Given the description of an element on the screen output the (x, y) to click on. 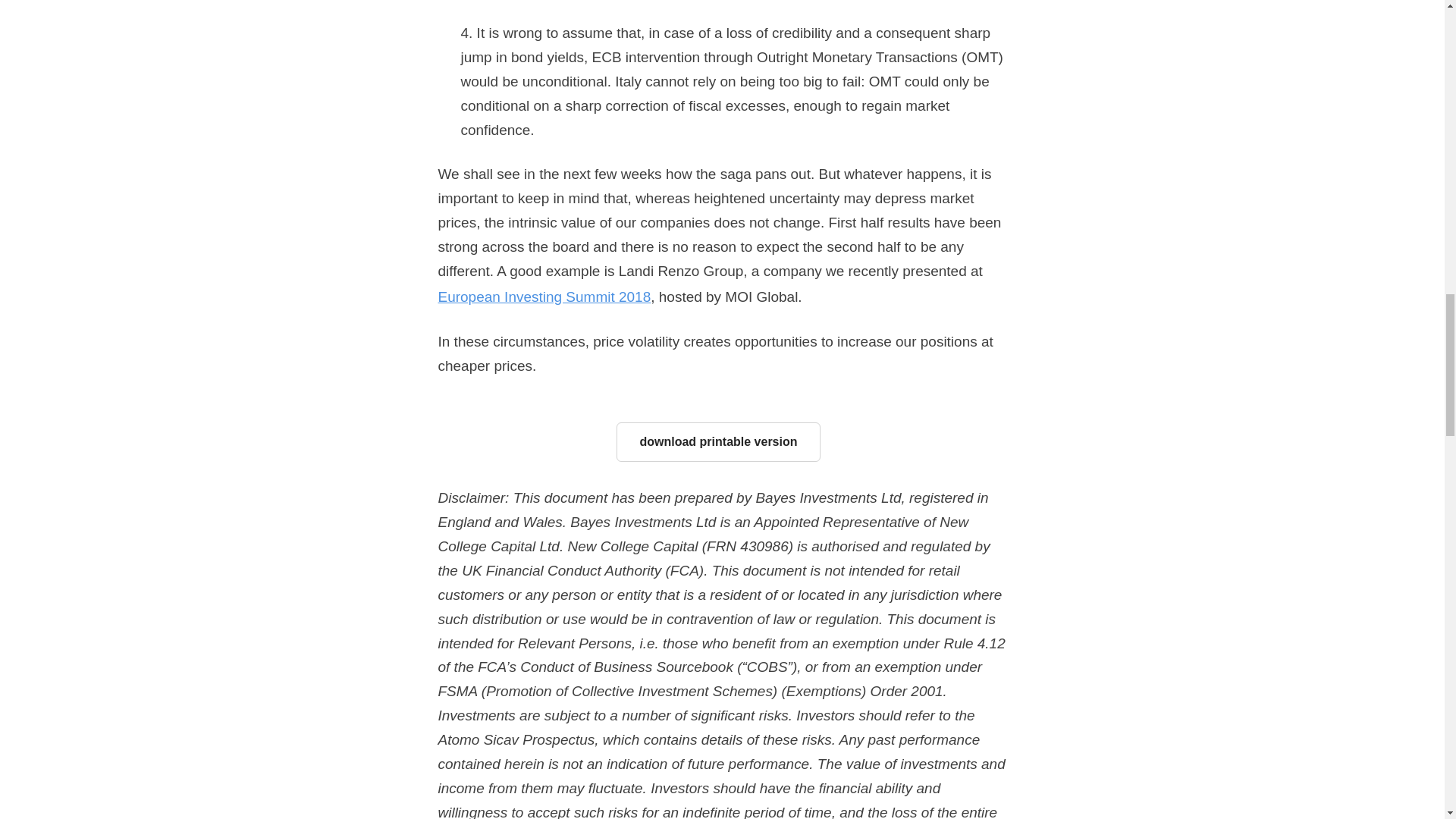
download printable version (718, 441)
